Given the description of an element on the screen output the (x, y) to click on. 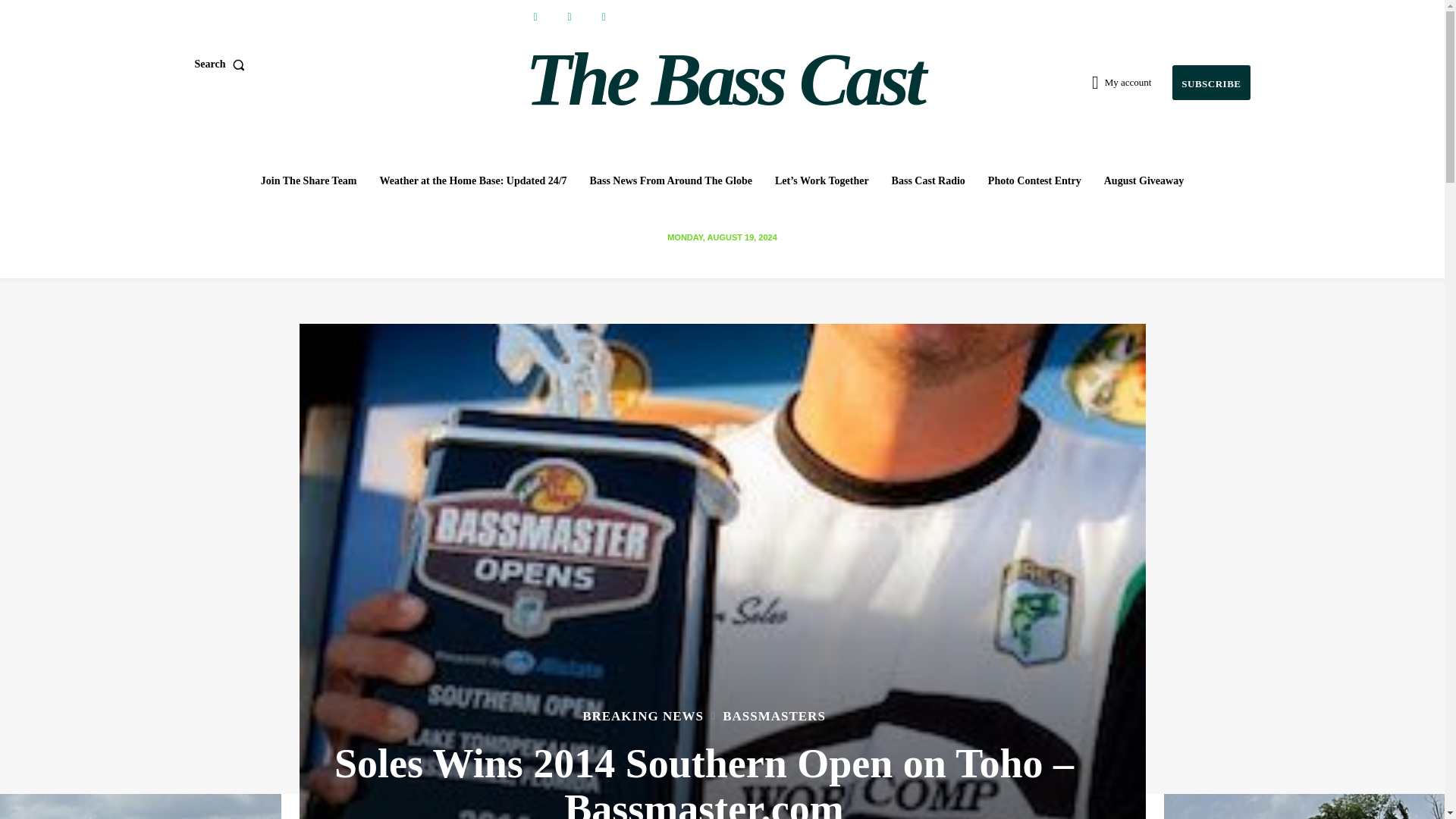
Search (221, 64)
Bass News From Around The Globe (671, 181)
Bass Cast Radio (927, 181)
Facebook (534, 17)
Youtube (602, 17)
BASSMASTERS (773, 716)
Subscribe (1210, 82)
August Giveaway (1143, 181)
Photo Contest Entry (1034, 181)
BREAKING NEWS (642, 716)
